Given the description of an element on the screen output the (x, y) to click on. 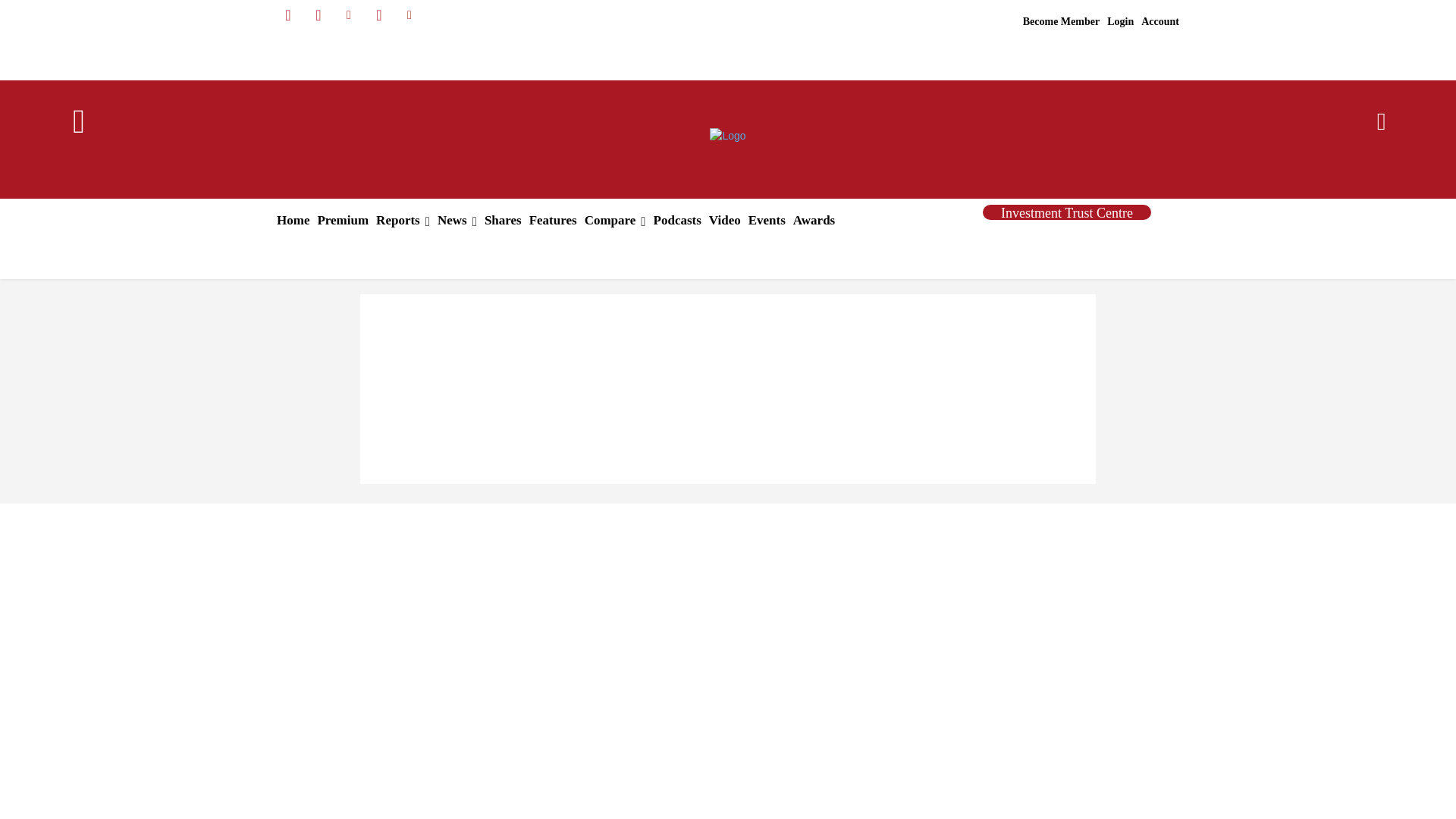
Vimeo (409, 15)
Premium (342, 220)
Facebook (287, 15)
Linkedin (348, 15)
Account (1159, 22)
Reports (402, 220)
Become Member (1061, 22)
Instagram (317, 15)
Twitter (379, 15)
Home (293, 220)
